Given the description of an element on the screen output the (x, y) to click on. 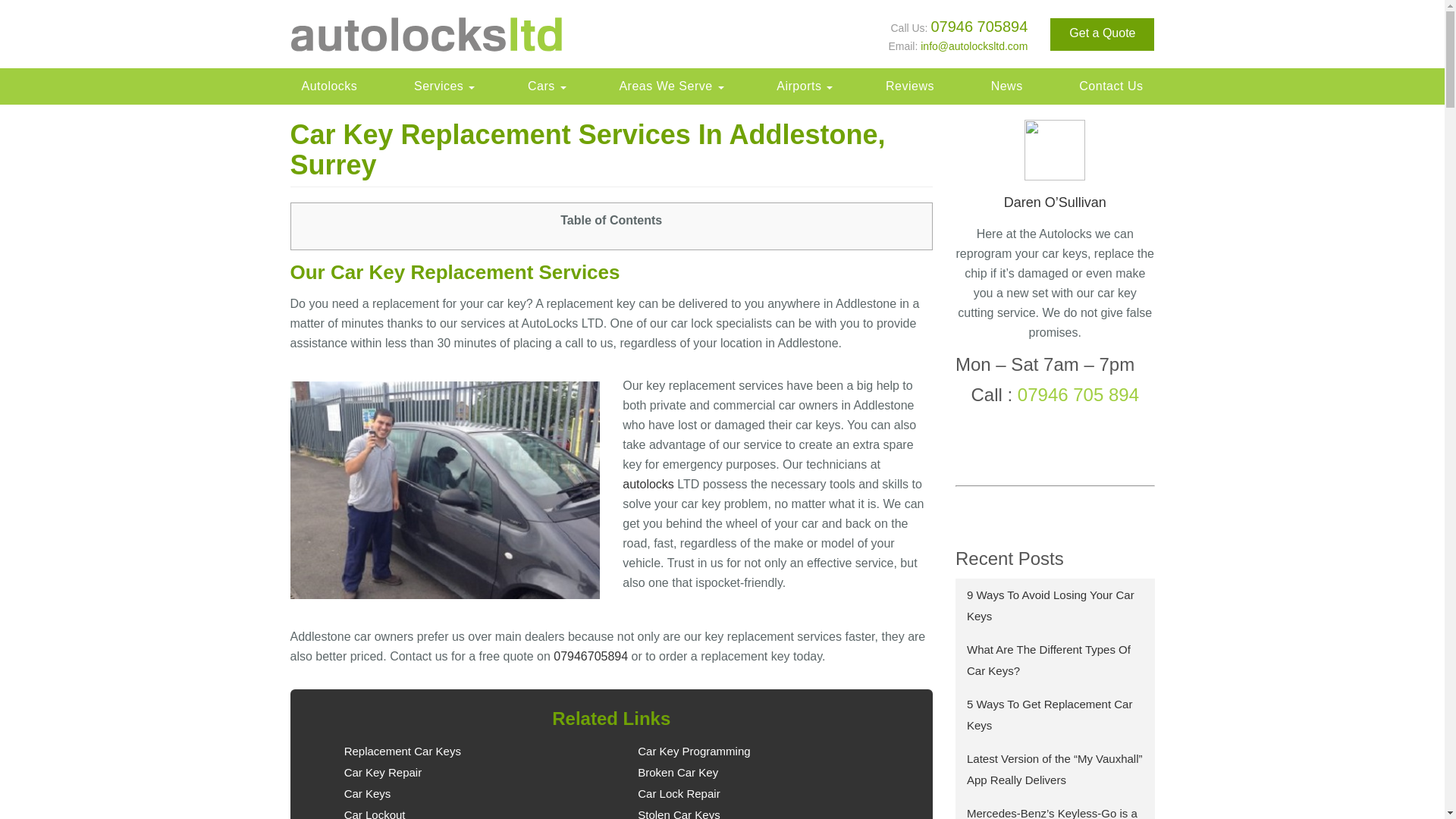
Autolocks (328, 85)
Cars (544, 85)
07946 705894 (978, 26)
Services (442, 85)
Get a Quote (1101, 34)
autolocks (648, 483)
Locksmiths London (328, 85)
